Given the description of an element on the screen output the (x, y) to click on. 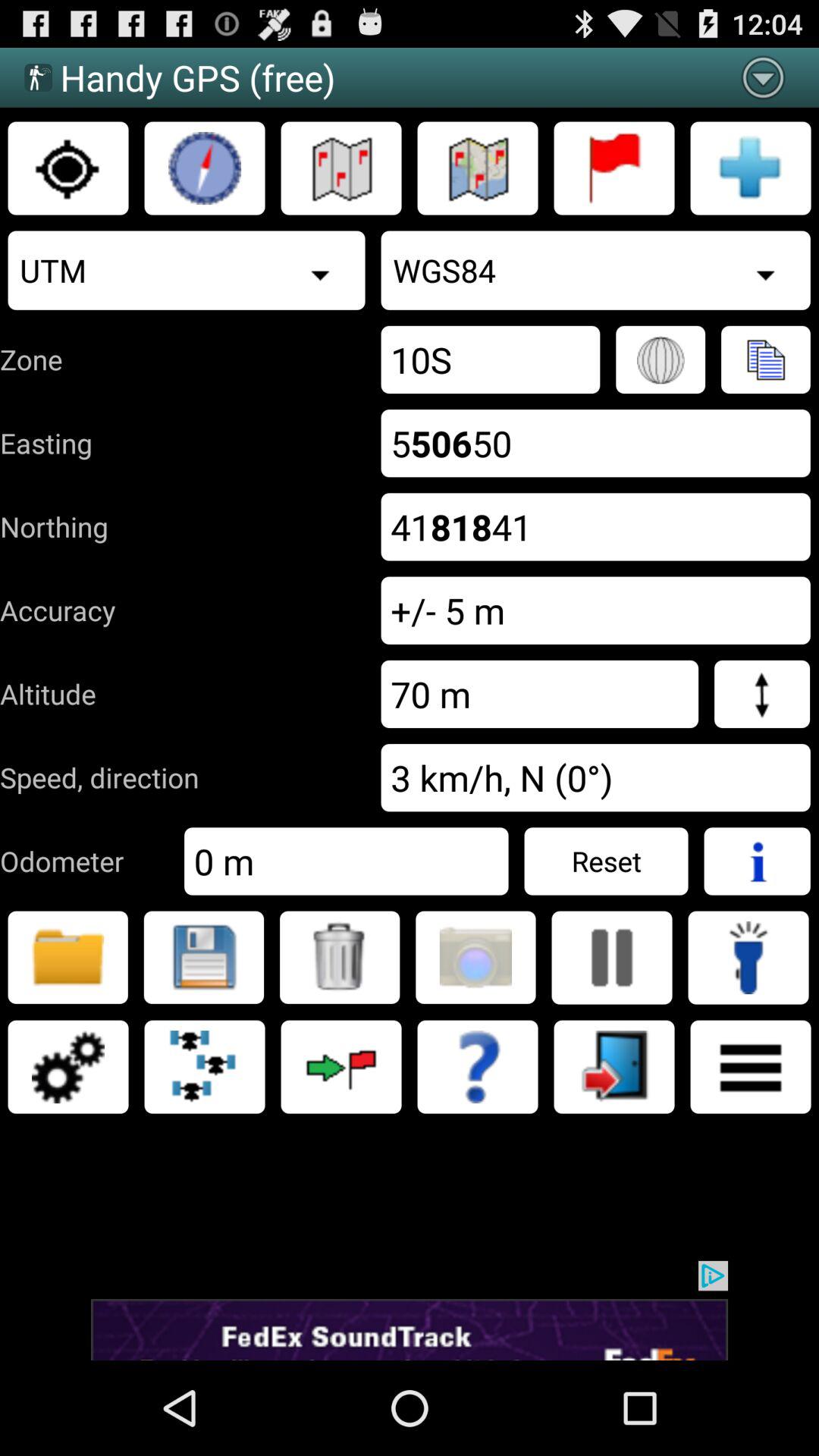
settings (68, 1066)
